Given the description of an element on the screen output the (x, y) to click on. 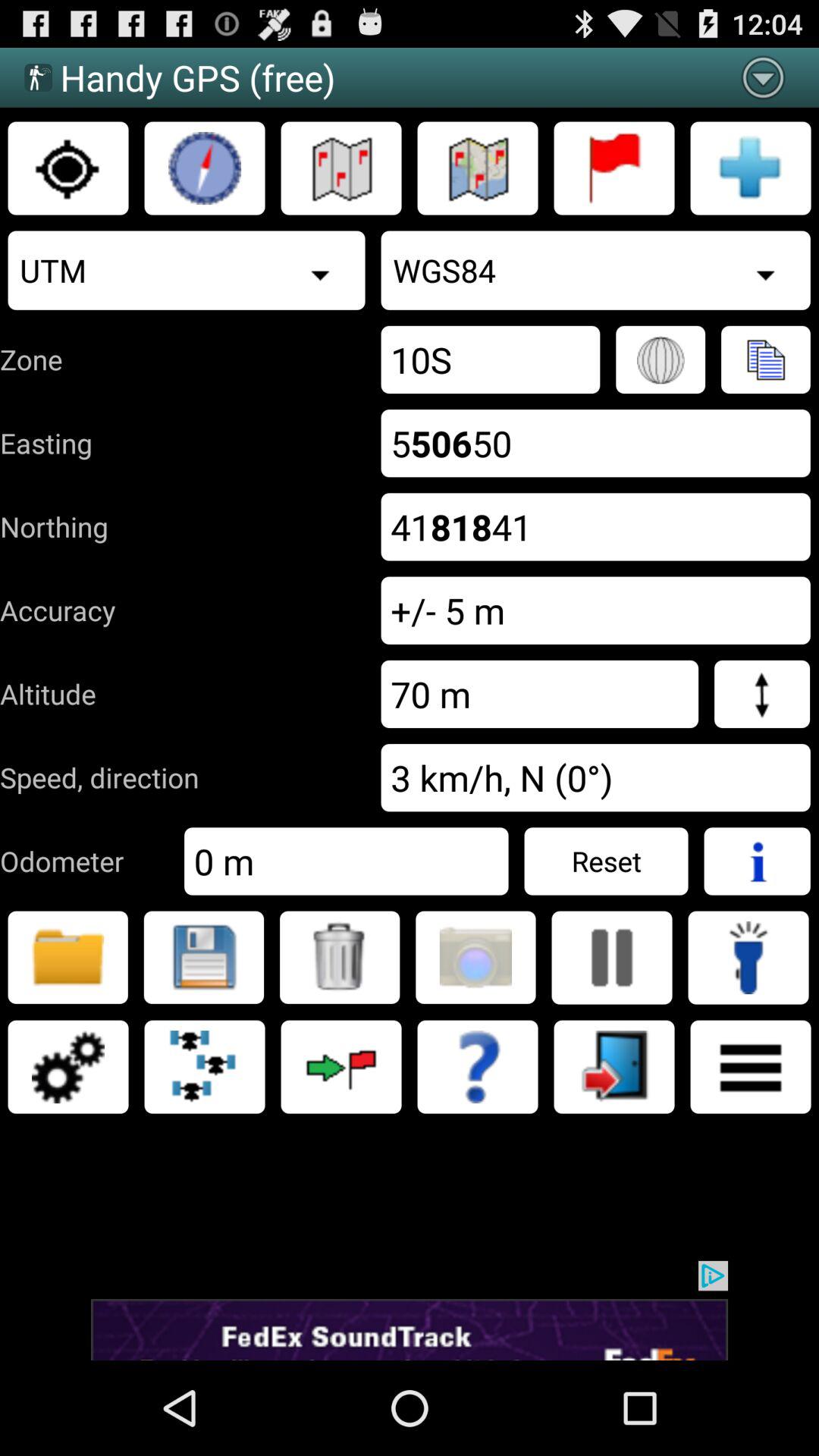
settings (68, 1066)
